Given the description of an element on the screen output the (x, y) to click on. 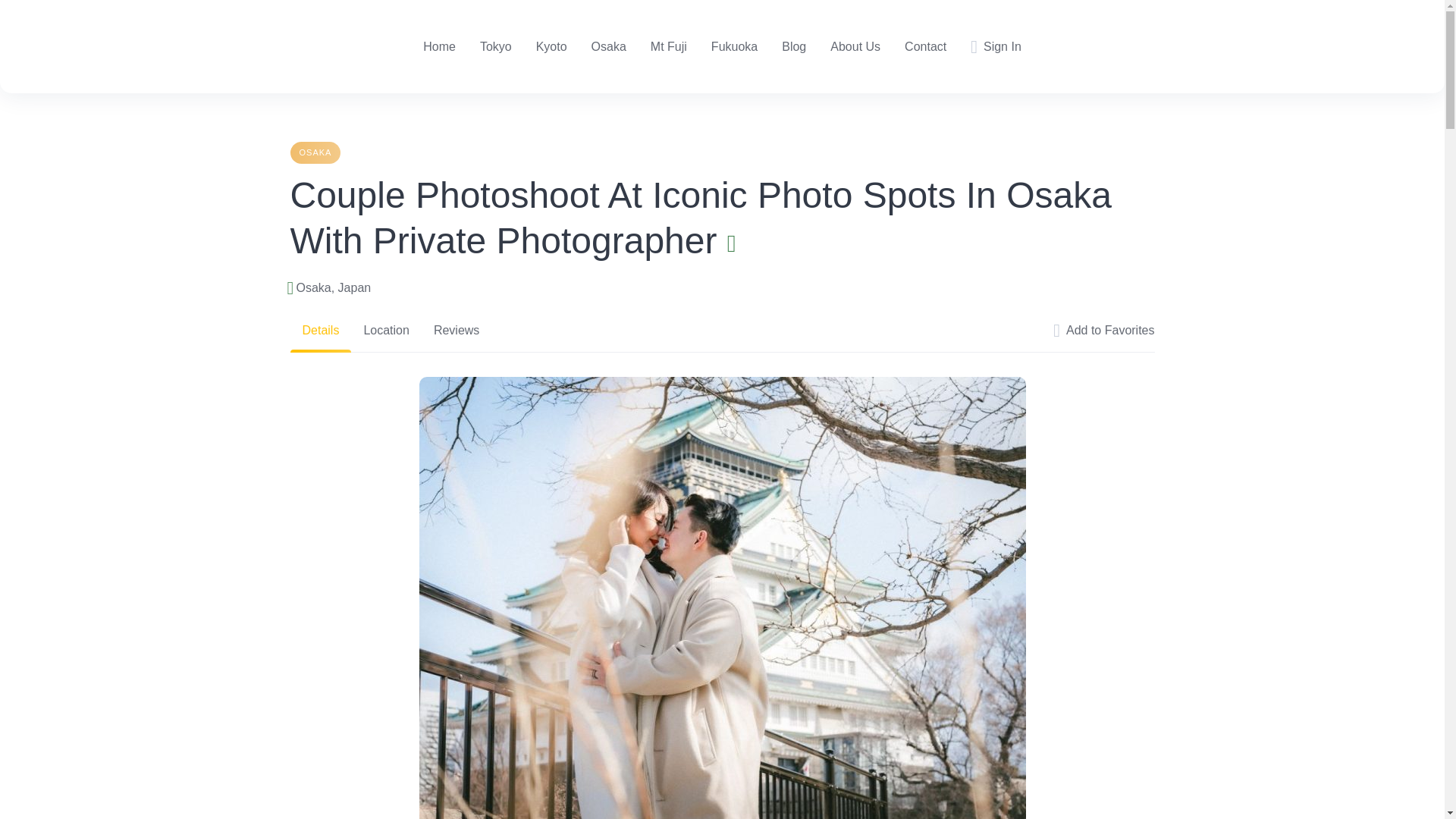
Fukuoka (734, 46)
Contact (925, 46)
Home (439, 46)
Osaka (608, 46)
Kyoto (551, 46)
OSAKA (314, 152)
Add to Favorites (1103, 330)
Osaka, Japan (333, 288)
Mt Fuji (668, 46)
Reviews (456, 330)
